Given the description of an element on the screen output the (x, y) to click on. 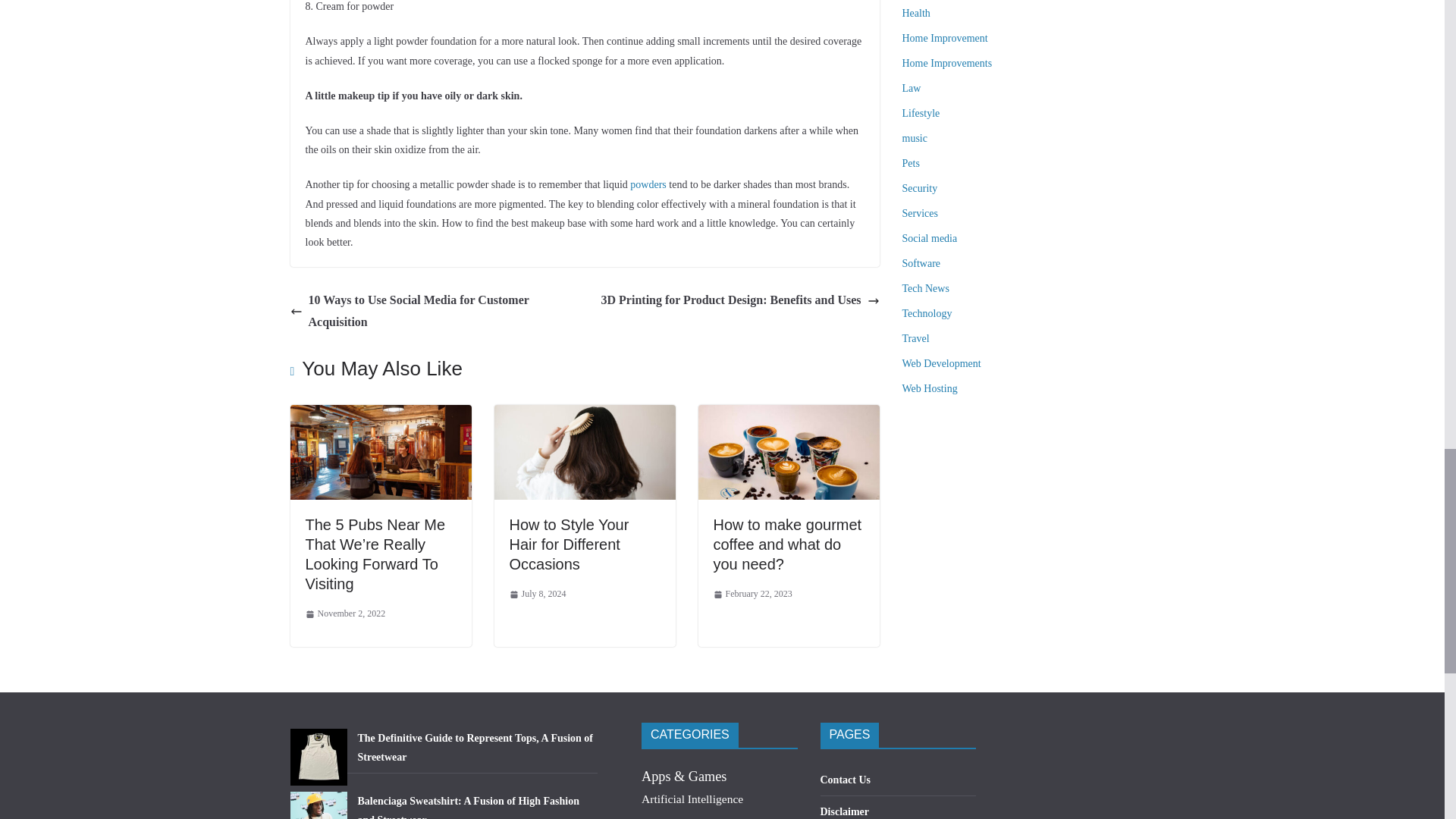
How to Style Your Hair for Different Occasions (568, 544)
powders (649, 184)
3D Printing for Product Design: Benefits and Uses (740, 300)
How to Style Your Hair for Different Occasions (585, 414)
How to Style Your Hair for Different Occasions (568, 544)
10 Ways to Use Social Media for Customer Acquisition (432, 311)
November 2, 2022 (344, 614)
7:38 PM (344, 614)
